Given the description of an element on the screen output the (x, y) to click on. 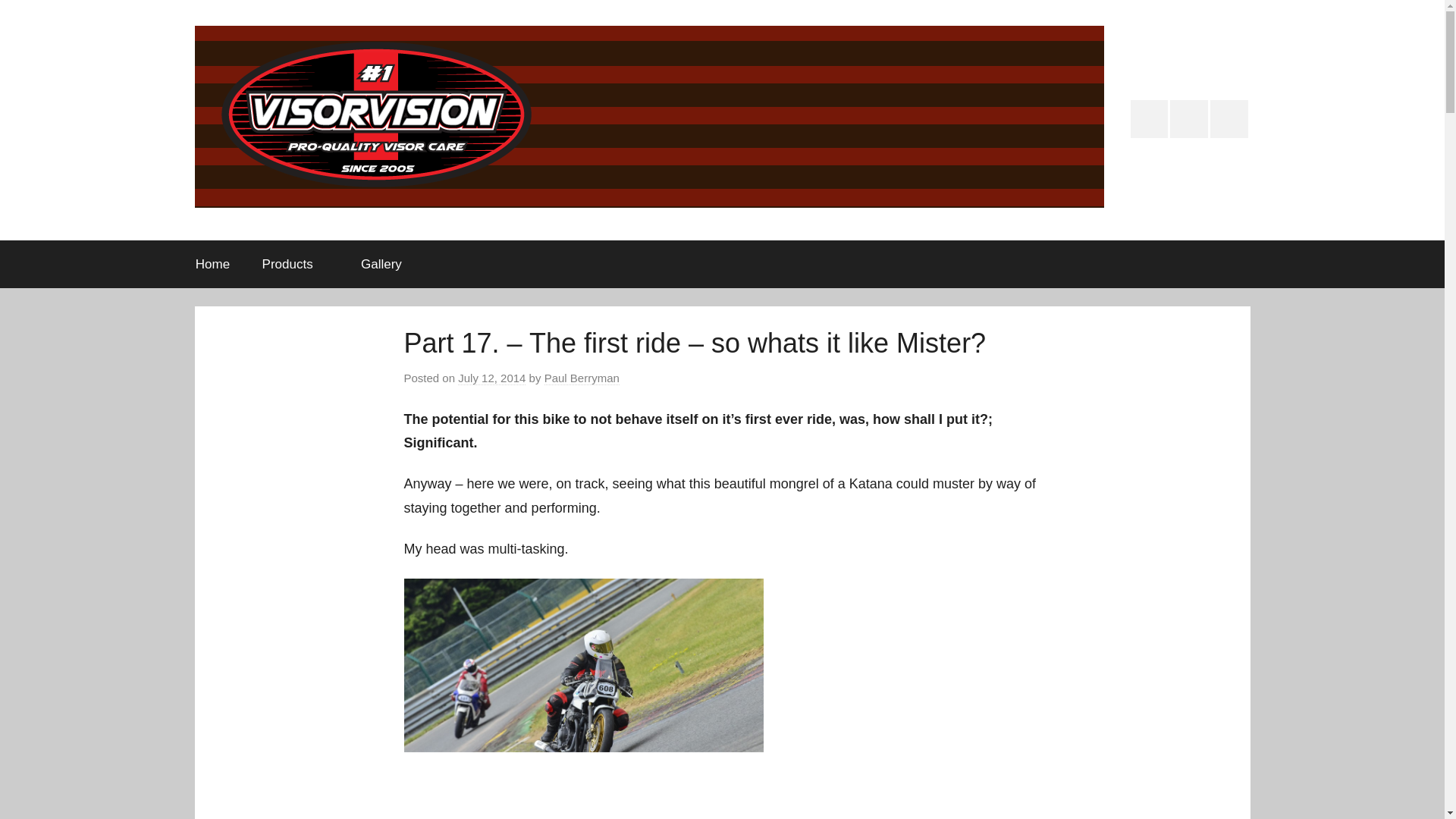
Paul Berryman (582, 377)
Home (212, 263)
Products (1189, 118)
Gallery (1228, 118)
Gallery (381, 263)
Products (294, 263)
Home (1150, 118)
View all posts by Paul Berryman (582, 377)
July 12, 2014 (491, 377)
